Given the description of an element on the screen output the (x, y) to click on. 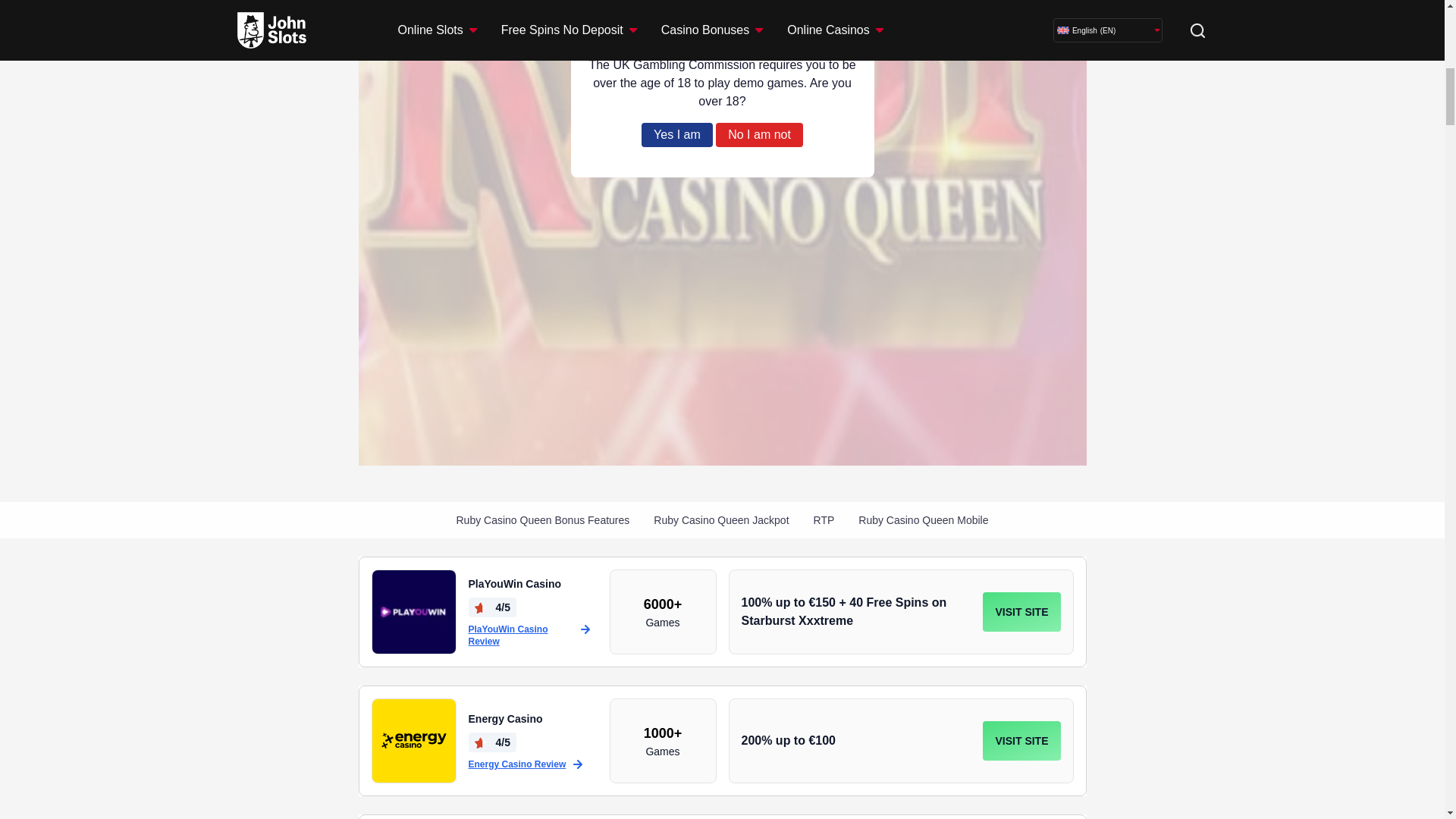
star-rating (480, 607)
star-rating (480, 743)
Energycasino logo (414, 740)
Playouwin logo (414, 611)
